Given the description of an element on the screen output the (x, y) to click on. 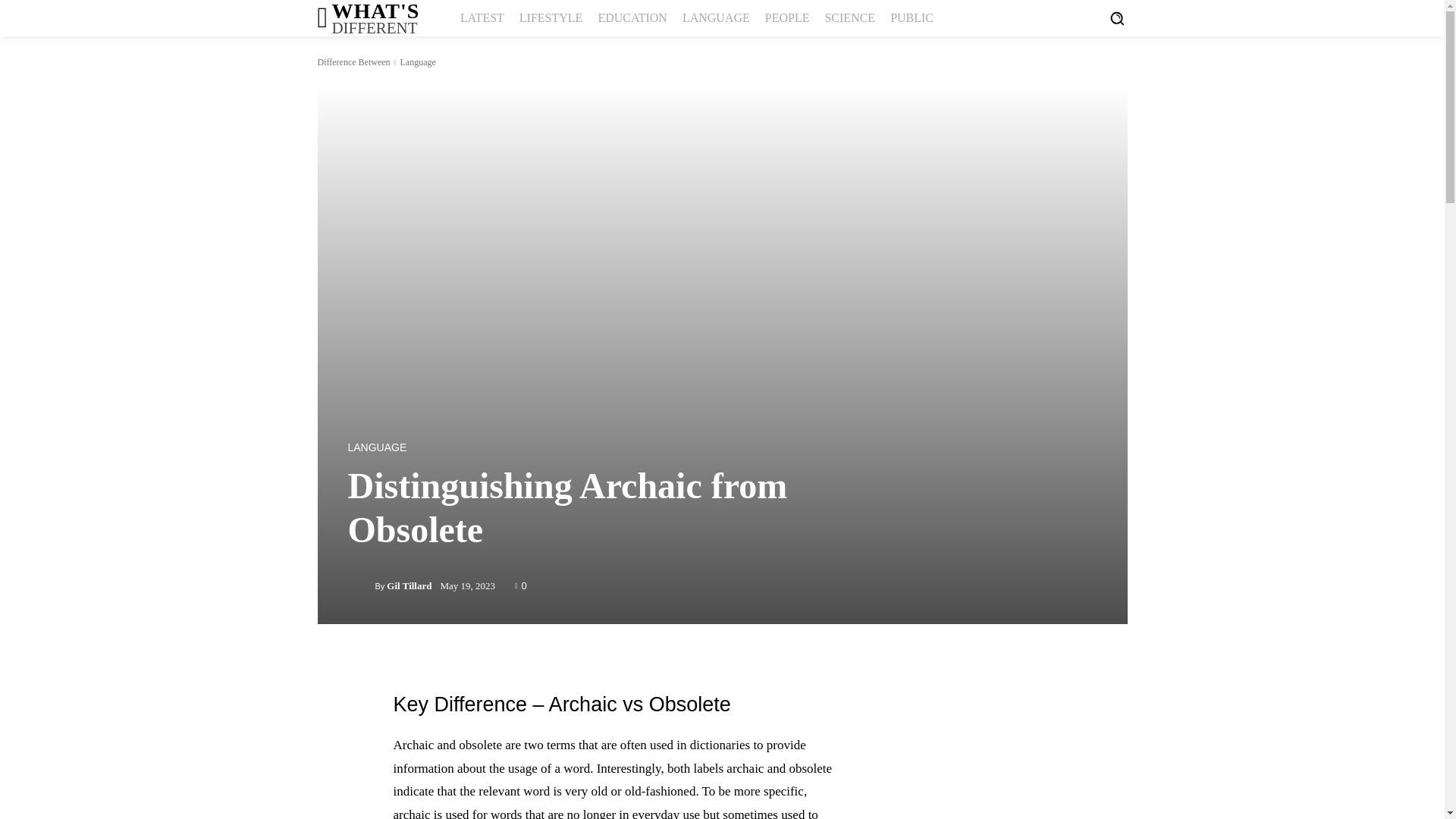
View all posts in Language (416, 61)
EDUCATION (632, 18)
LIFESTYLE (551, 18)
Language (416, 61)
Gil Tillard (360, 585)
0 (521, 584)
PEOPLE (786, 18)
SCIENCE (849, 18)
LATEST (482, 18)
Gil Tillard (408, 585)
